Given the description of an element on the screen output the (x, y) to click on. 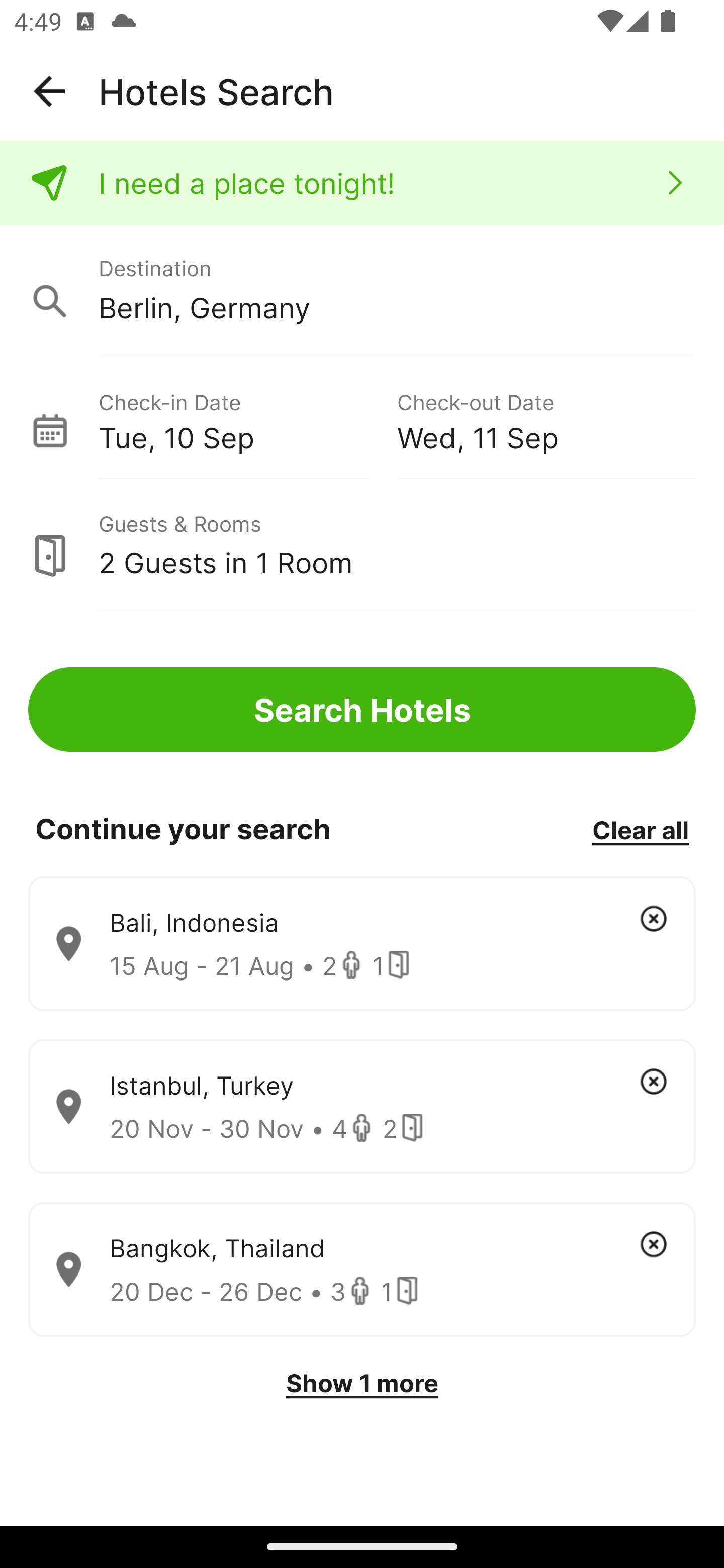
I need a place tonight! (362, 183)
Destination Berlin, Germany (362, 290)
Check-in Date Tue, 10 Sep (247, 418)
Check-out Date Wed, 11 Sep (546, 418)
Guests & Rooms 2 Guests in 1 Room (362, 545)
Search Hotels (361, 709)
Clear all (640, 829)
Bali, Indonesia 15 Aug - 21 Aug • 2  1  (361, 943)
Istanbul, Turkey 20 Nov - 30 Nov • 4  2  (361, 1106)
Bangkok, Thailand 20 Dec - 26 Dec • 3  1  (361, 1269)
Show 1 more (362, 1382)
